Given the description of an element on the screen output the (x, y) to click on. 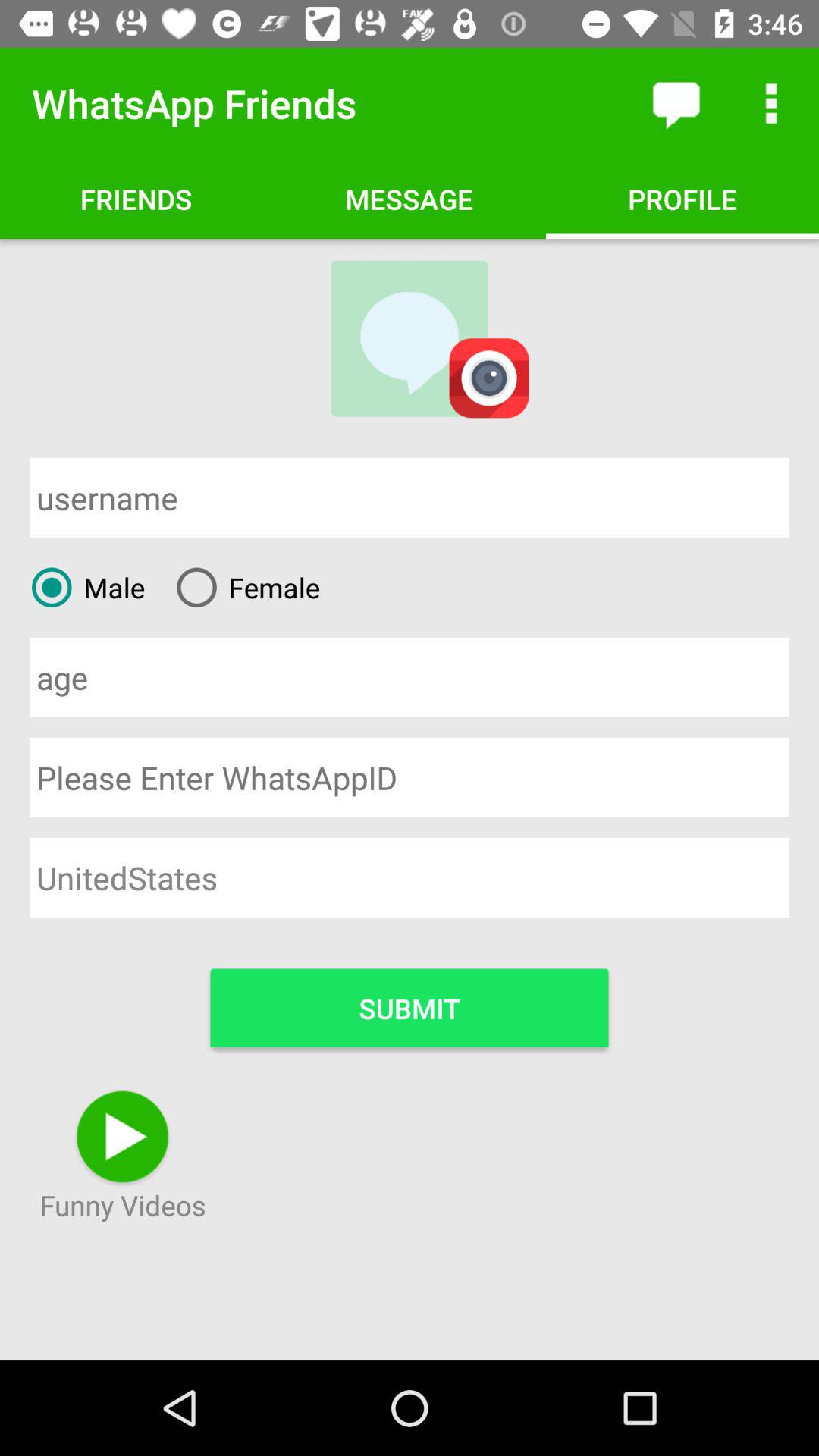
menu (771, 103)
